Given the description of an element on the screen output the (x, y) to click on. 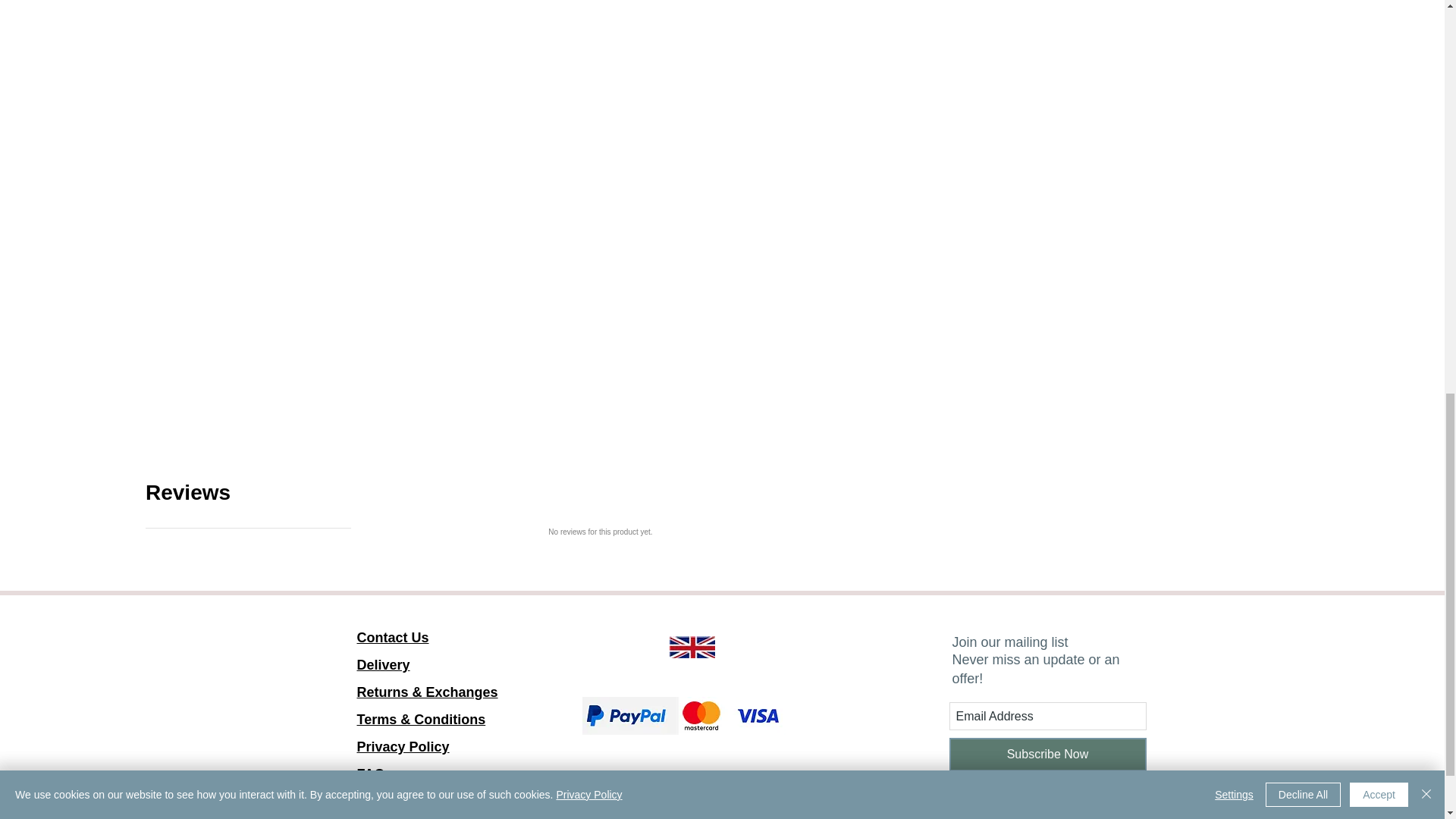
F (402, 760)
Subscribe Now (691, 647)
Delivery (1048, 754)
Contact Us (382, 664)
